Given the description of an element on the screen output the (x, y) to click on. 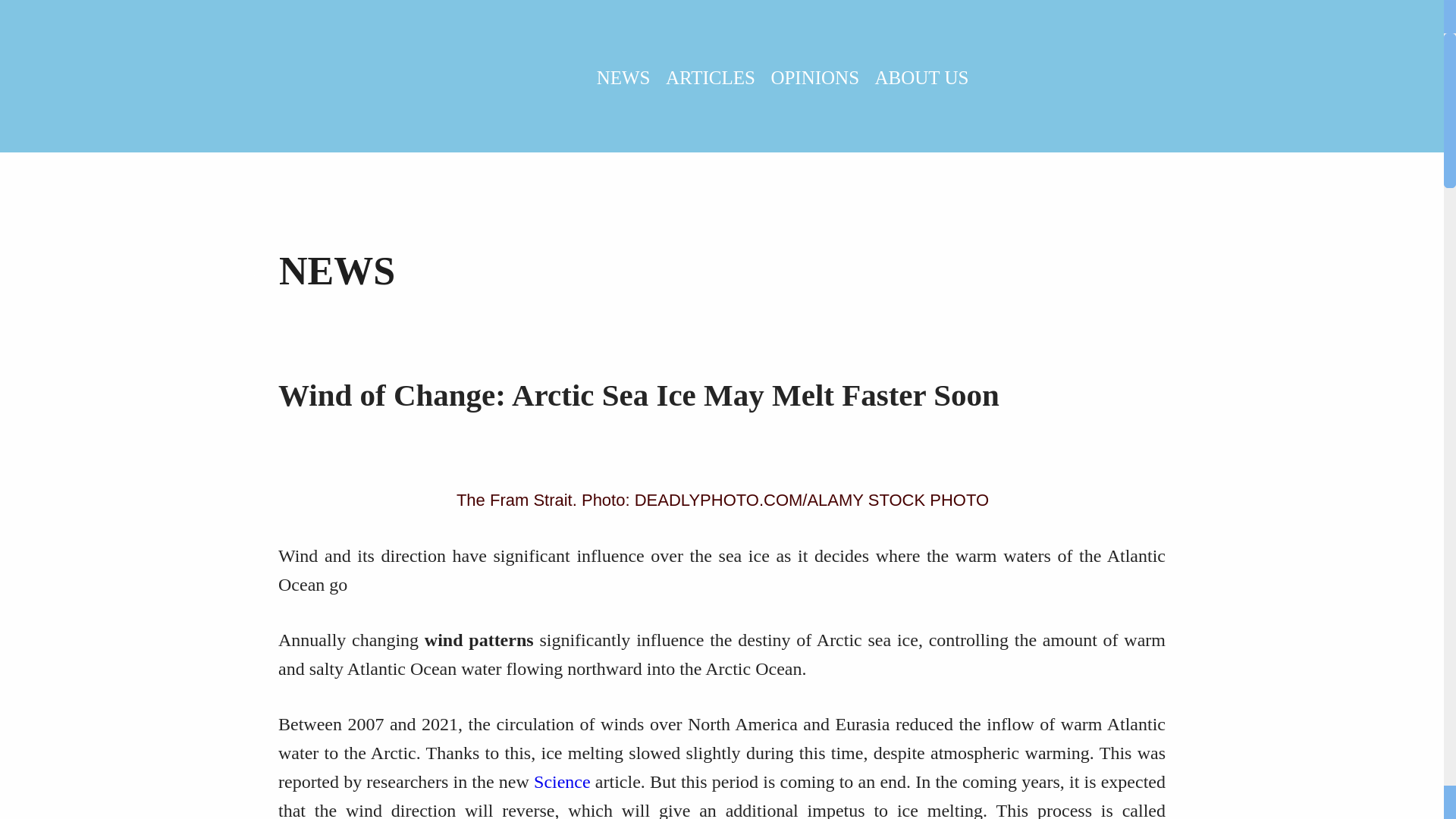
OPINIONS (814, 77)
Science (562, 781)
ABOUT US (922, 77)
ARTICLES (710, 77)
NEWS (623, 77)
